Given the description of an element on the screen output the (x, y) to click on. 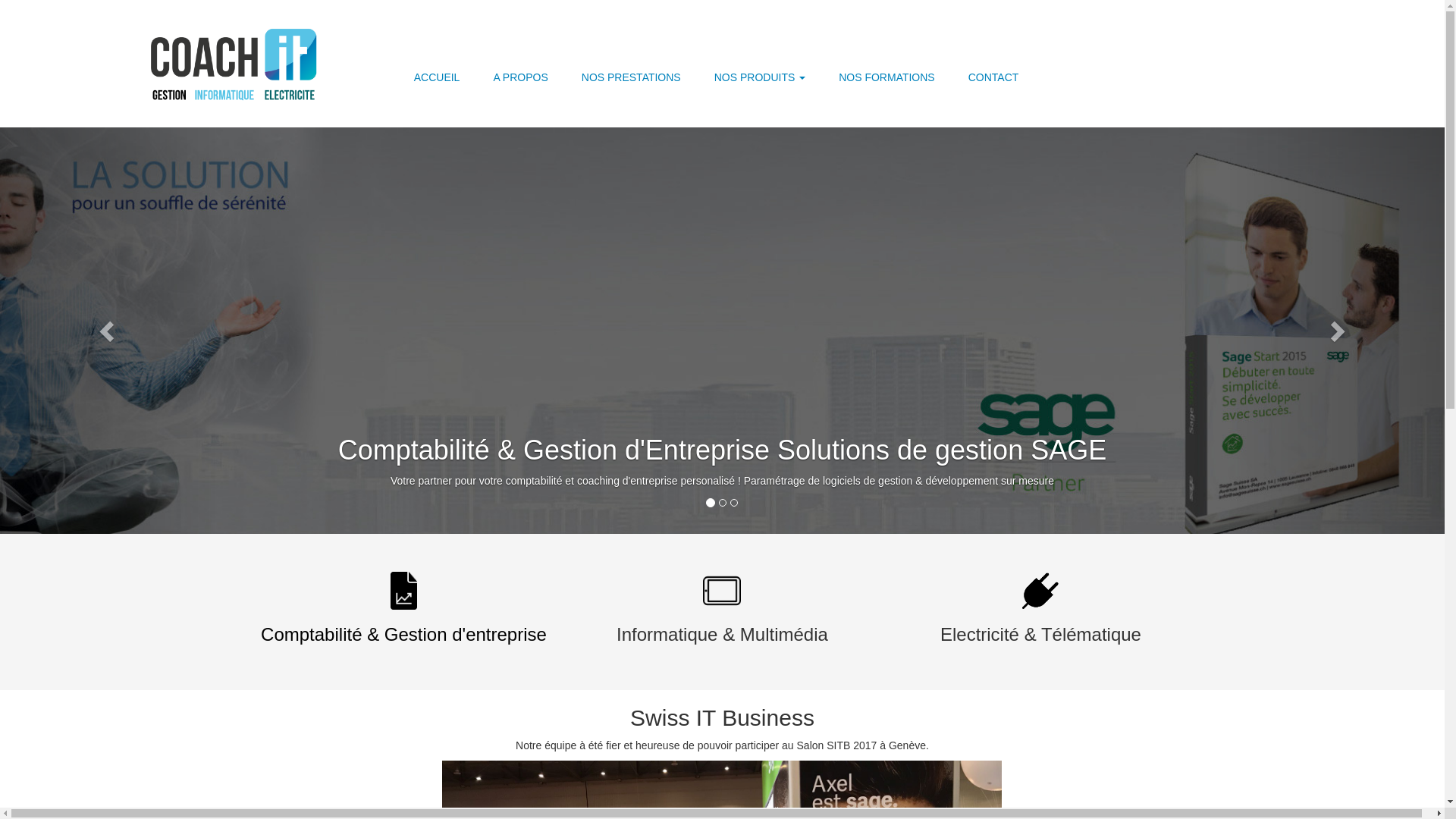
ACCUEIL Element type: text (437, 76)
Suivant Element type: text (1335, 330)
NOS PRESTATIONS Element type: text (630, 76)
CONTACT Element type: text (993, 76)
A PROPOS Element type: text (519, 76)
NOS PRODUITS Element type: text (759, 76)
NOS FORMATIONS Element type: text (886, 76)
